Given the description of an element on the screen output the (x, y) to click on. 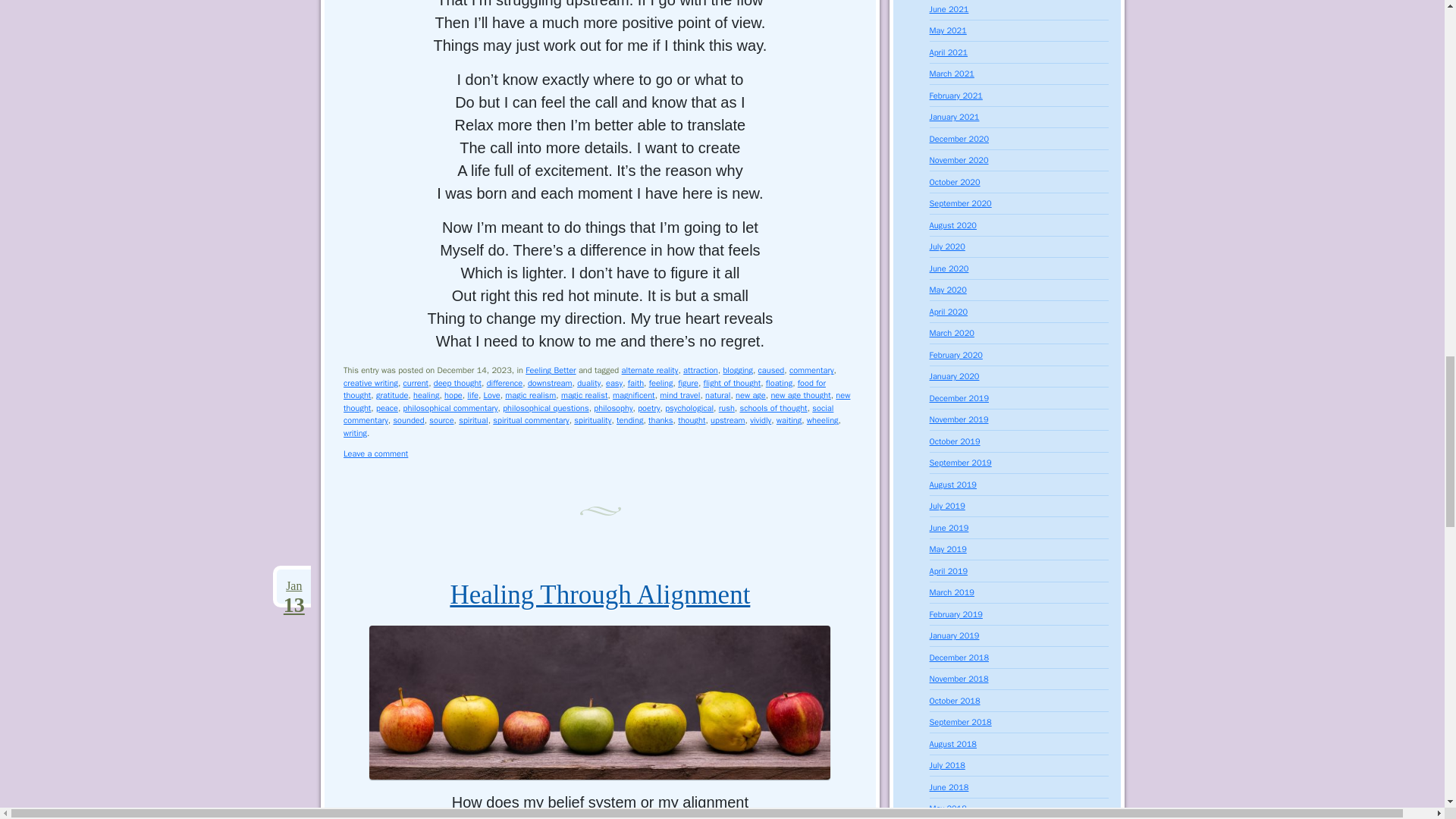
January 13, 2022 (293, 586)
